Given the description of an element on the screen output the (x, y) to click on. 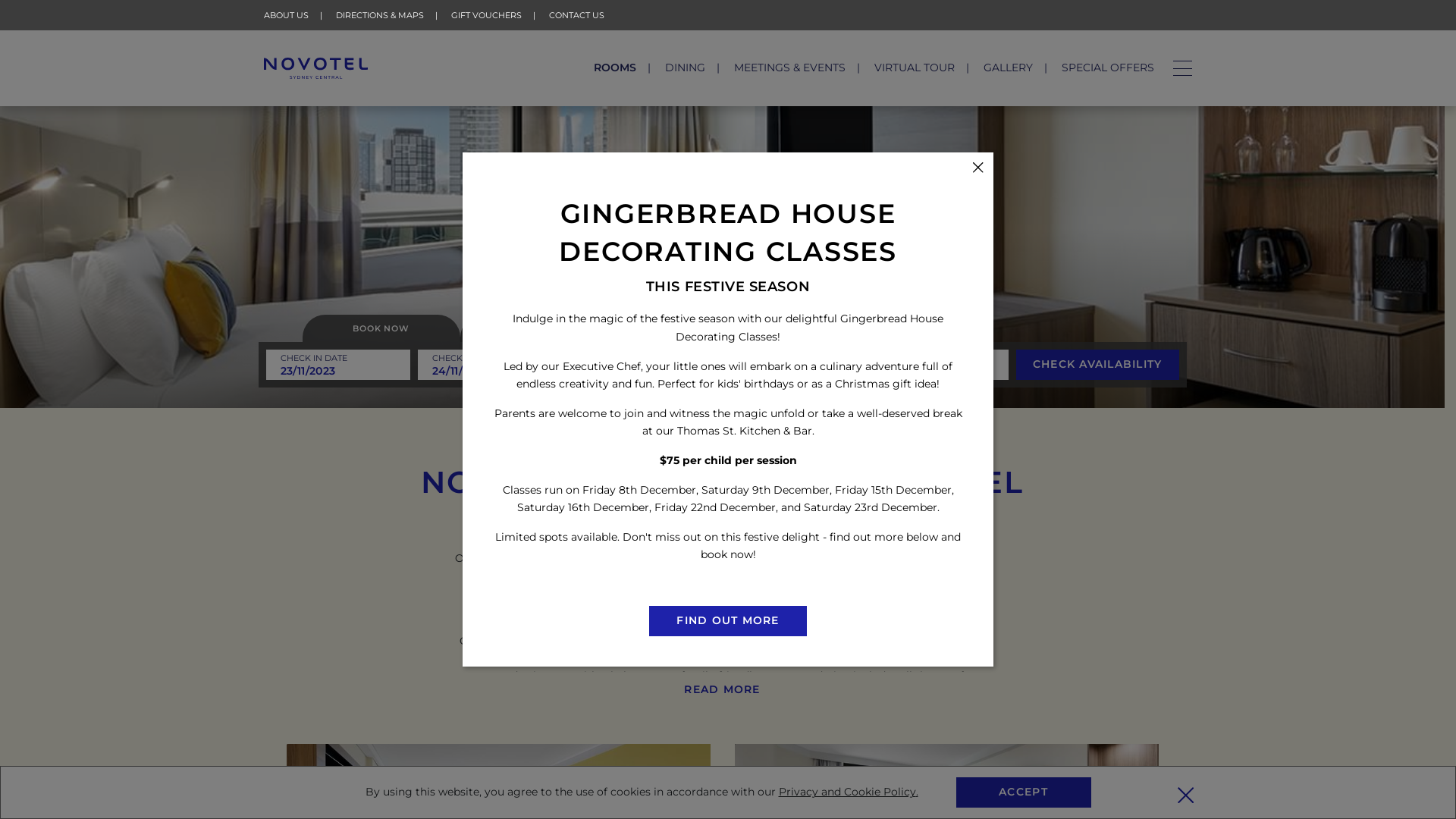
ABOUT US Element type: text (285, 14)
RESERVE A TABLE Element type: text (538, 328)
ACCEPT Element type: text (1022, 792)
BOOK NOW Element type: text (380, 328)
READ MORE Element type: text (721, 689)
SPECIAL OFFERS Element type: text (1107, 67)
MEETINGS & EVENTS Element type: text (789, 67)
CONTACT US Element type: text (576, 14)
Privacy and Cookie Policy Element type: text (846, 791)
GIFT VOUCHERS Element type: text (486, 14)
ROOMS Element type: text (614, 67)
DIRECTIONS & MAPS Element type: text (379, 14)
. Element type: text (917, 791)
GALLERY Element type: text (1007, 67)
VIRTUAL TOUR Element type: text (914, 67)
CHECK AVAILABILITY Element type: text (1097, 364)
FIND OUT MORE Element type: text (727, 620)
DINING Element type: text (685, 67)
